Given the description of an element on the screen output the (x, y) to click on. 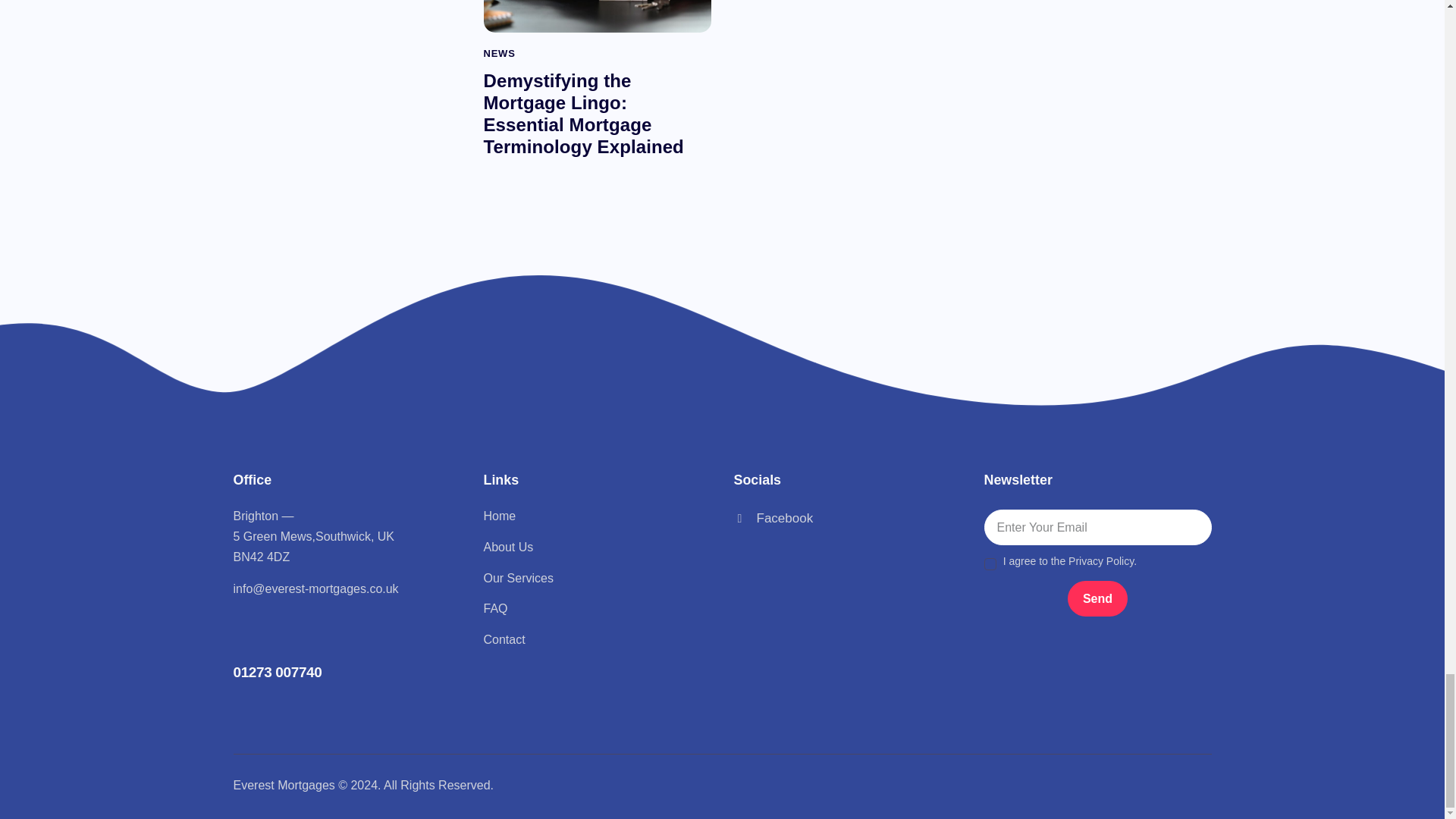
on (989, 557)
